Given the description of an element on the screen output the (x, y) to click on. 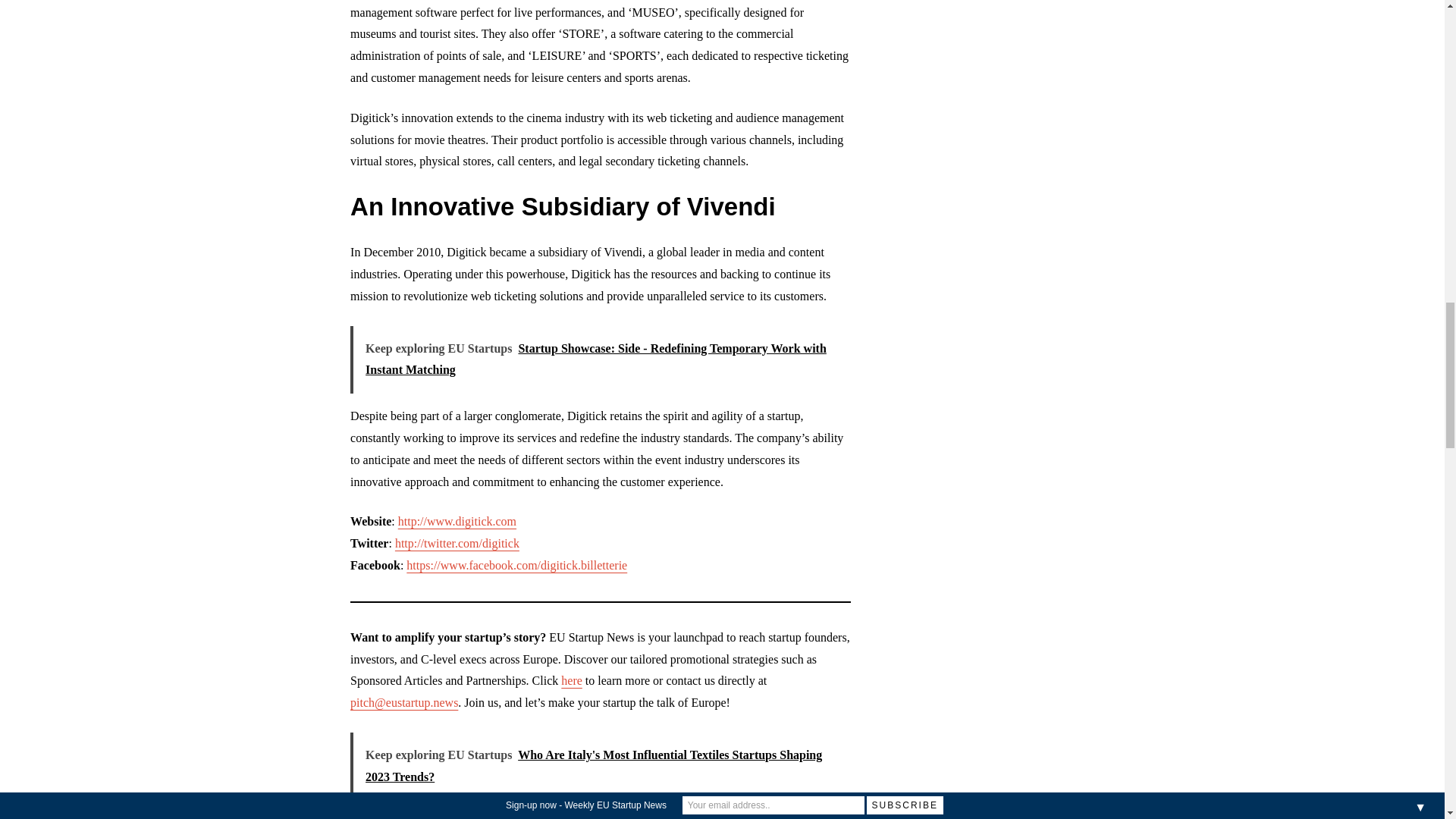
here (571, 680)
